Given the description of an element on the screen output the (x, y) to click on. 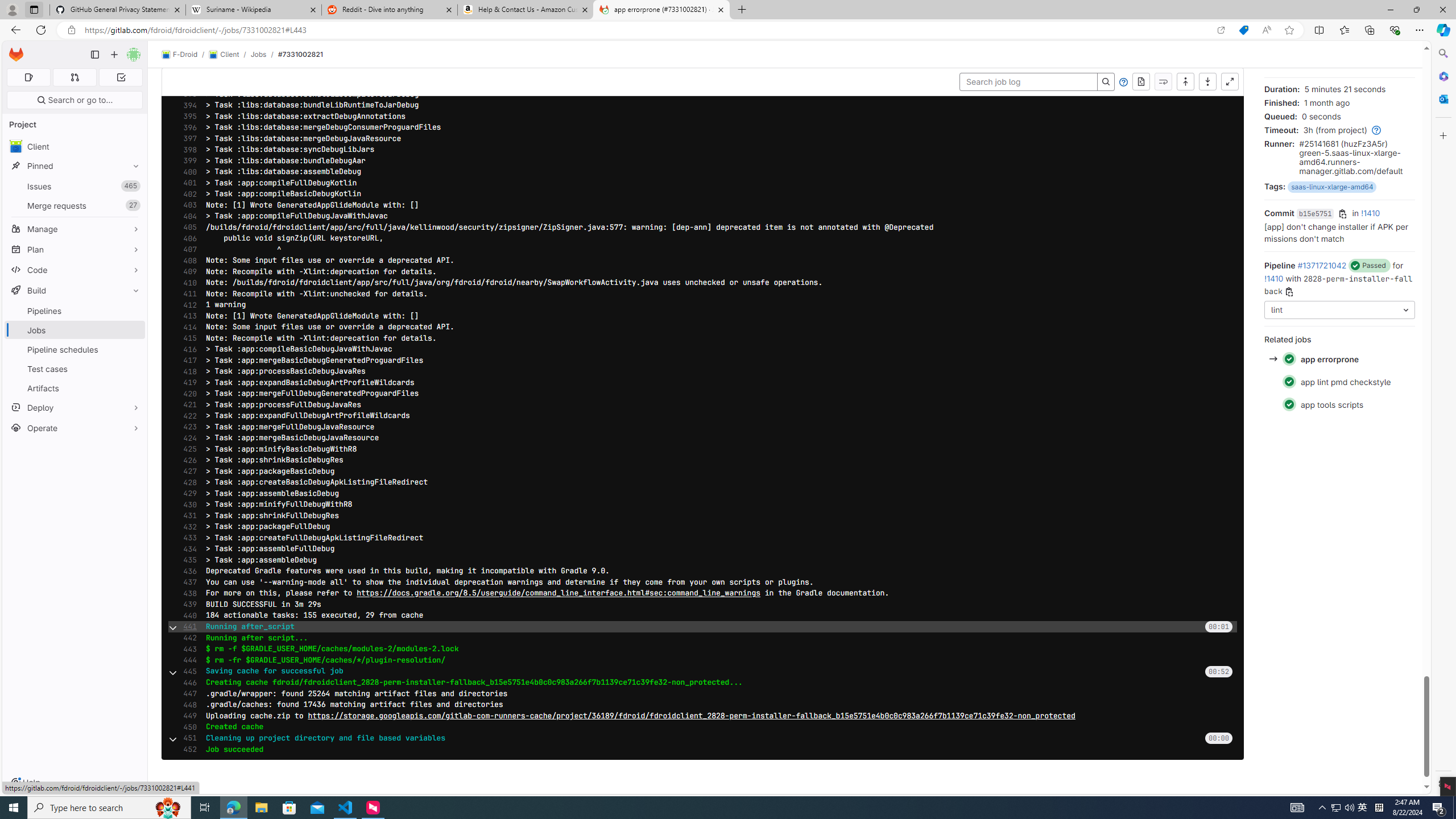
430 (186, 504)
Jobs/ (264, 53)
Client/ (229, 54)
Pipeline schedules (74, 348)
Merge requests 27 (74, 205)
Suriname - Wikipedia (253, 9)
390 (186, 60)
Copy branch name (1288, 291)
405 (186, 227)
Primary navigation sidebar (94, 54)
388 (186, 38)
451 (186, 737)
